Given the description of an element on the screen output the (x, y) to click on. 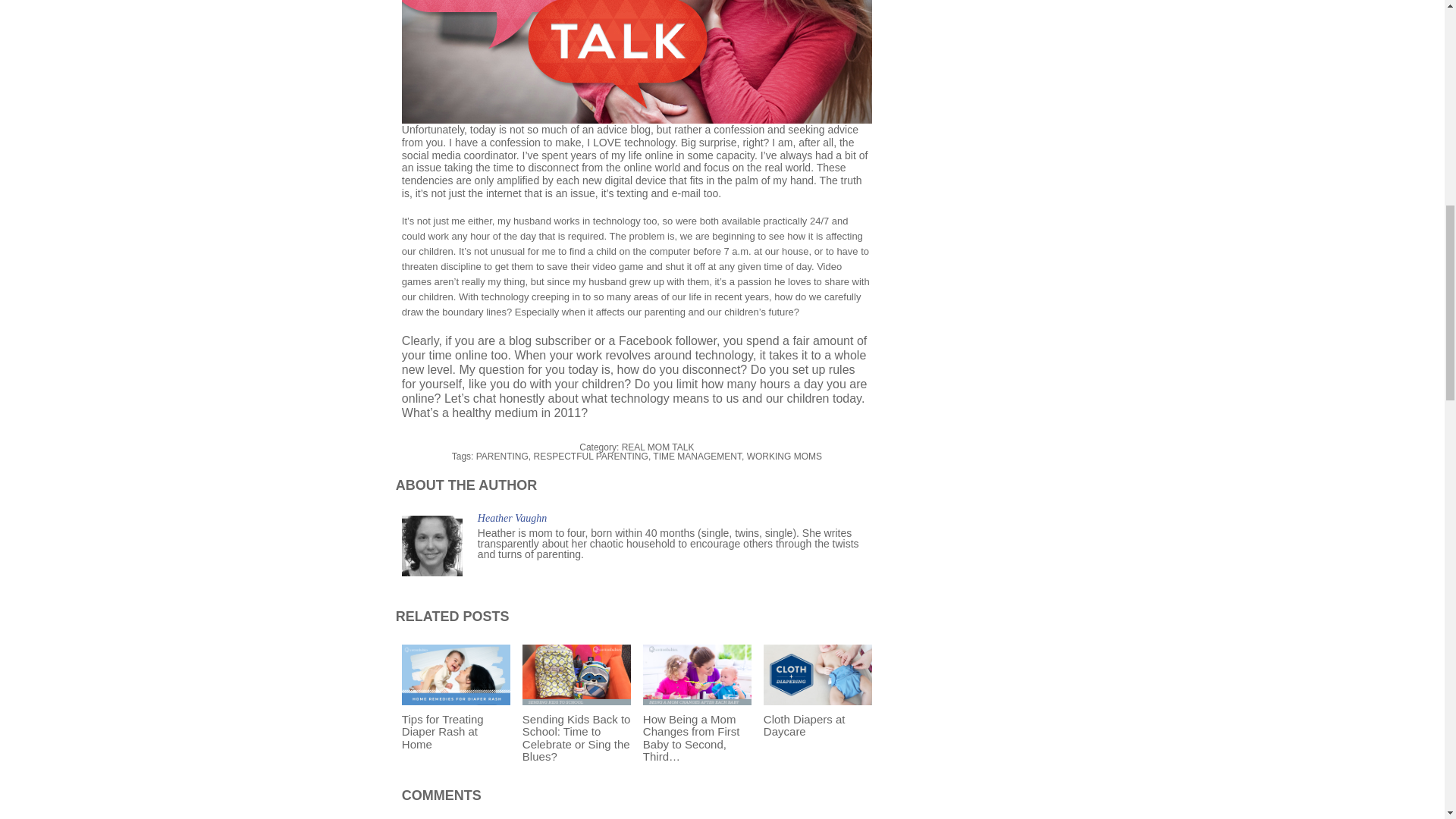
TIME MANAGEMENT (696, 456)
Cloth Diapers at Daycare (817, 674)
Tips for Treating Diaper Rash at Home (456, 674)
Heather Vaughn (512, 518)
Cloth Diapers at Daycare (803, 725)
PARENTING (502, 456)
RESPECTFUL PARENTING (590, 456)
Posts by Heather Vaughn (512, 518)
REAL MOM TALK (657, 447)
Tips for Treating Diaper Rash at Home (442, 731)
Tips for Treating Diaper Rash at Home (442, 731)
WORKING MOMS (784, 456)
